Given the description of an element on the screen output the (x, y) to click on. 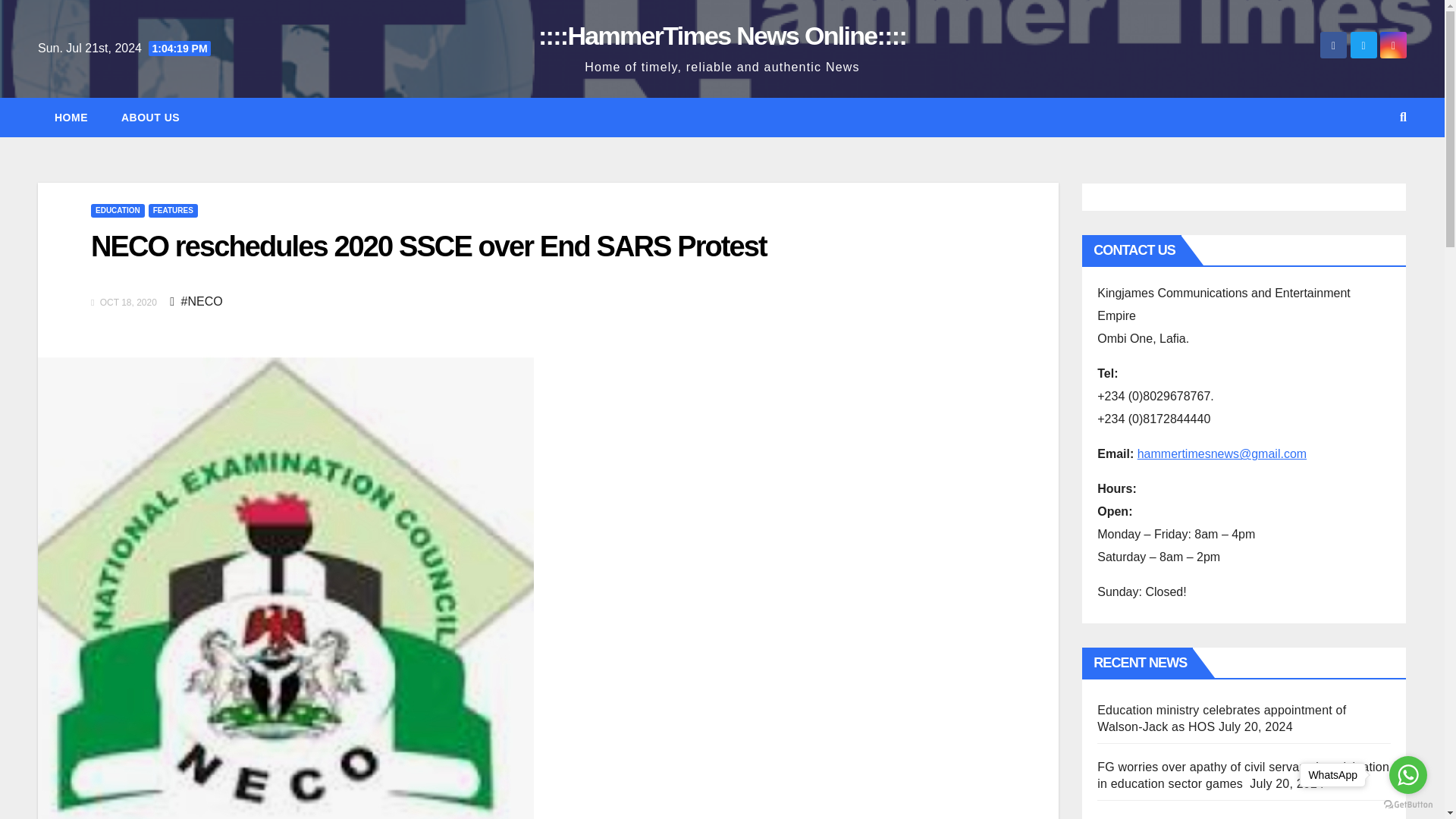
NECO reschedules 2020 SSCE over End SARS Protest (428, 246)
ABOUT US (150, 117)
FEATURES (173, 210)
HOME (70, 117)
::::HammerTimes News Online:::: (721, 35)
Home (70, 117)
EDUCATION (117, 210)
